Given the description of an element on the screen output the (x, y) to click on. 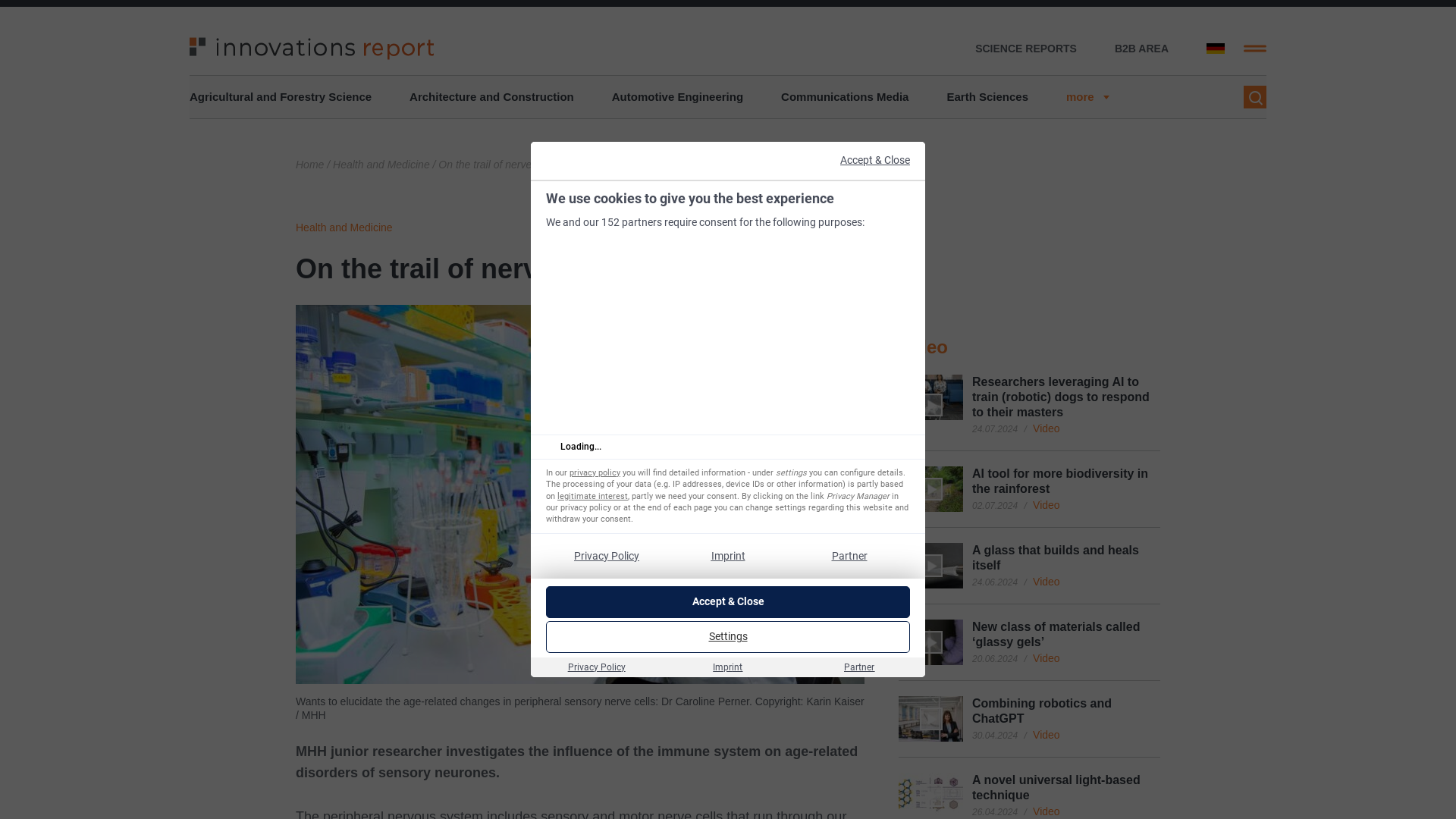
Agricultural and Forestry Science (280, 96)
B2B AREA (1142, 48)
Architecture and Construction (491, 96)
SCIENCE REPORTS (1026, 48)
Earth Sciences (986, 96)
Automotive Engineering (676, 96)
Communications Media (844, 96)
